Given the description of an element on the screen output the (x, y) to click on. 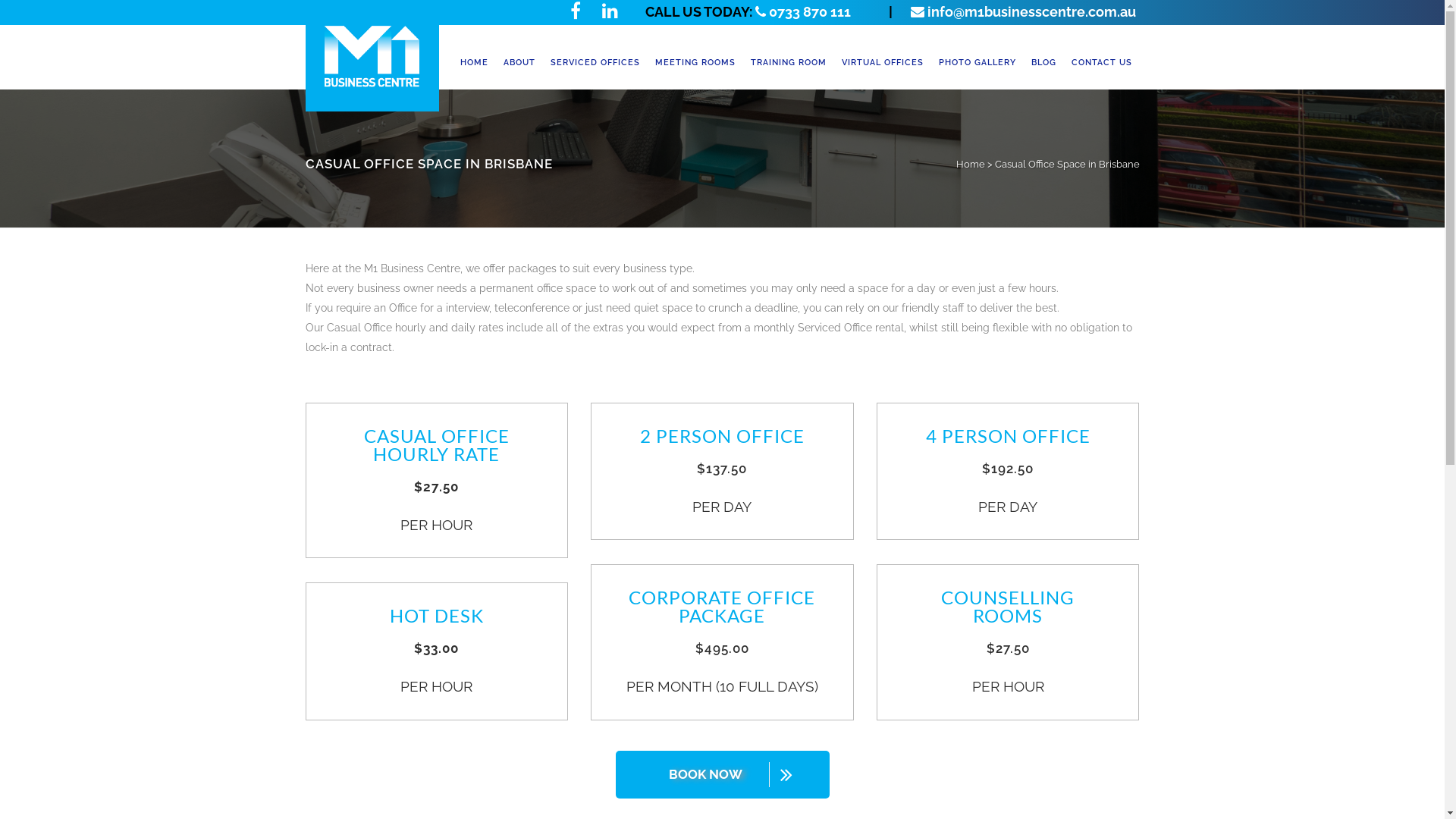
ABOUT Element type: text (518, 62)
CONTACT US Element type: text (1101, 62)
PHOTO GALLERY Element type: text (977, 62)
HOME Element type: text (473, 62)
TRAINING ROOM Element type: text (788, 62)
Home Element type: text (969, 163)
info@m1businesscentre.com.au Element type: text (1014, 11)
VIRTUAL OFFICES Element type: text (882, 62)
MEETING ROOMS Element type: text (695, 62)
0733 870 111 Element type: text (802, 11)
SERVICED OFFICES Element type: text (594, 62)
BLOG Element type: text (1043, 62)
BOOK NOW Element type: text (722, 774)
